Given the description of an element on the screen output the (x, y) to click on. 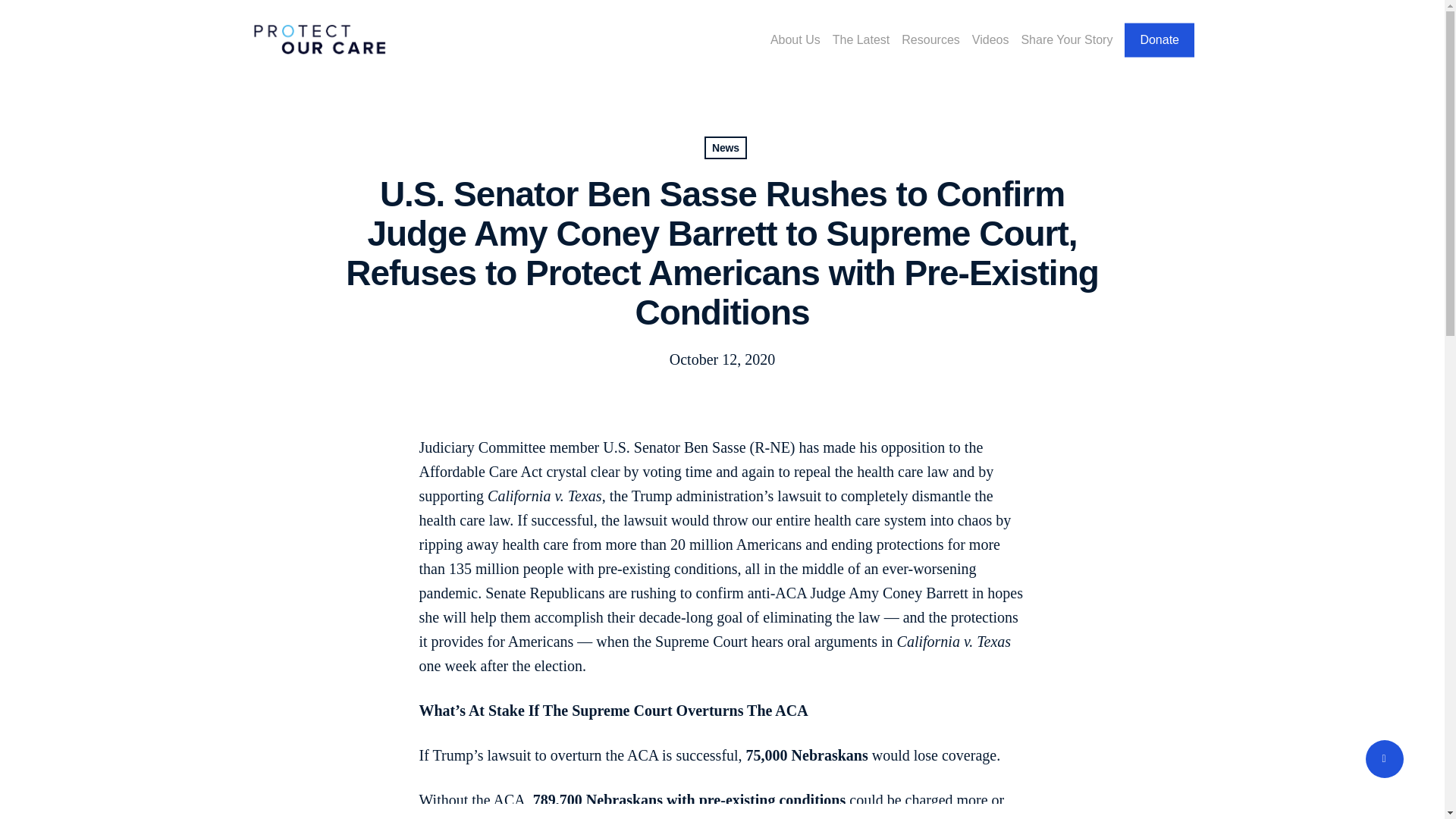
Videos (990, 39)
The Latest (860, 39)
About Us (795, 39)
Share Your Story (1066, 39)
Donate (1158, 39)
Resources (930, 39)
News (725, 147)
